Given the description of an element on the screen output the (x, y) to click on. 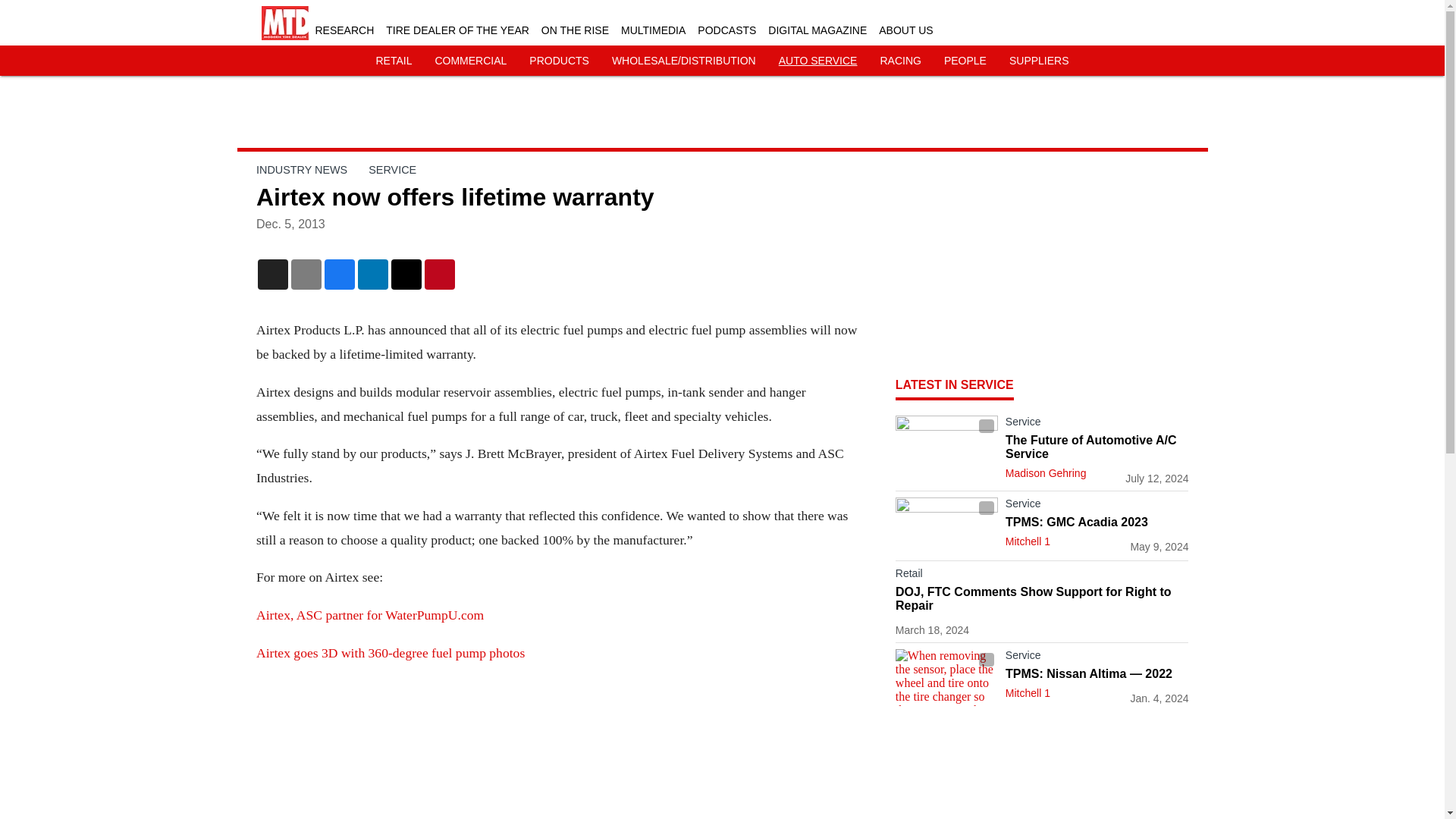
TPMS: GMC Acadia 2023 (1097, 522)
MULTIMEDIA (653, 30)
Madison Gehring (1046, 472)
TIRE DEALER OF THE YEAR (457, 30)
SERVICE (392, 169)
Mitchell 1 (1027, 541)
RACING (899, 60)
ON THE RISE (574, 30)
PEOPLE (965, 60)
Service (1097, 424)
Airtex, ASC partner for WaterPumpU.com (369, 614)
COMMERCIAL (469, 60)
Service (1097, 506)
Retail (1042, 576)
ABOUT US (906, 30)
